Given the description of an element on the screen output the (x, y) to click on. 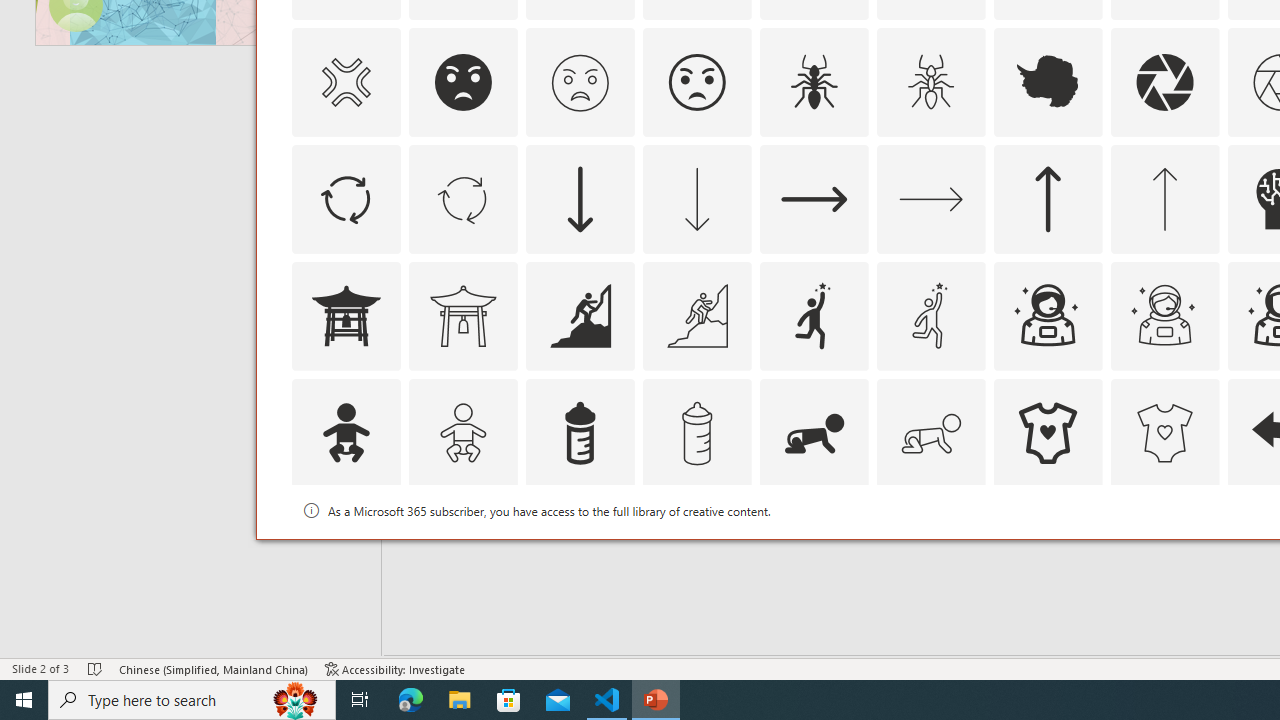
AutomationID: Icons_ArrowUp_M (1164, 198)
AutomationID: Icons_Badge2_M (579, 550)
AutomationID: Icons_Badge4_M (1048, 550)
AutomationID: Icons_ArrowCircle (345, 198)
AutomationID: Icons_Badge3 (696, 550)
AutomationID: Icons_Badge3_M (813, 550)
AutomationID: Icons_AngryFace_M (579, 82)
AutomationID: Icons_BabyCrawling (813, 432)
AutomationID: Icons_ArrowDown (579, 198)
